Given the description of an element on the screen output the (x, y) to click on. 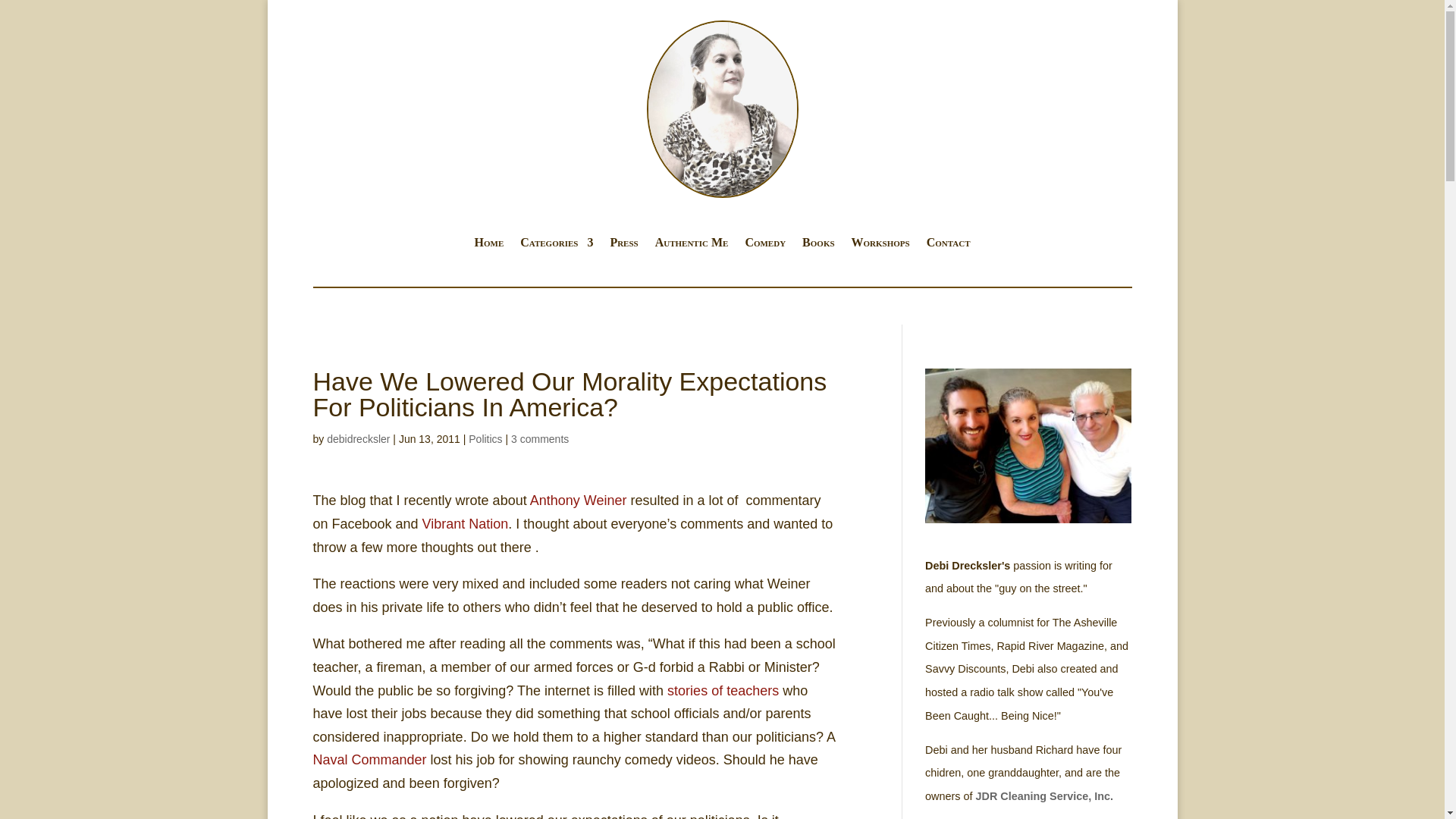
debidrecksler (358, 439)
Posts by debidrecksler (358, 439)
Books (818, 245)
Comedy (765, 245)
Categories (555, 245)
Press (623, 245)
Home (488, 245)
Workshops (880, 245)
Contact (948, 245)
Authentic Me (692, 245)
3 comments (540, 439)
Politics (485, 439)
